Given the description of an element on the screen output the (x, y) to click on. 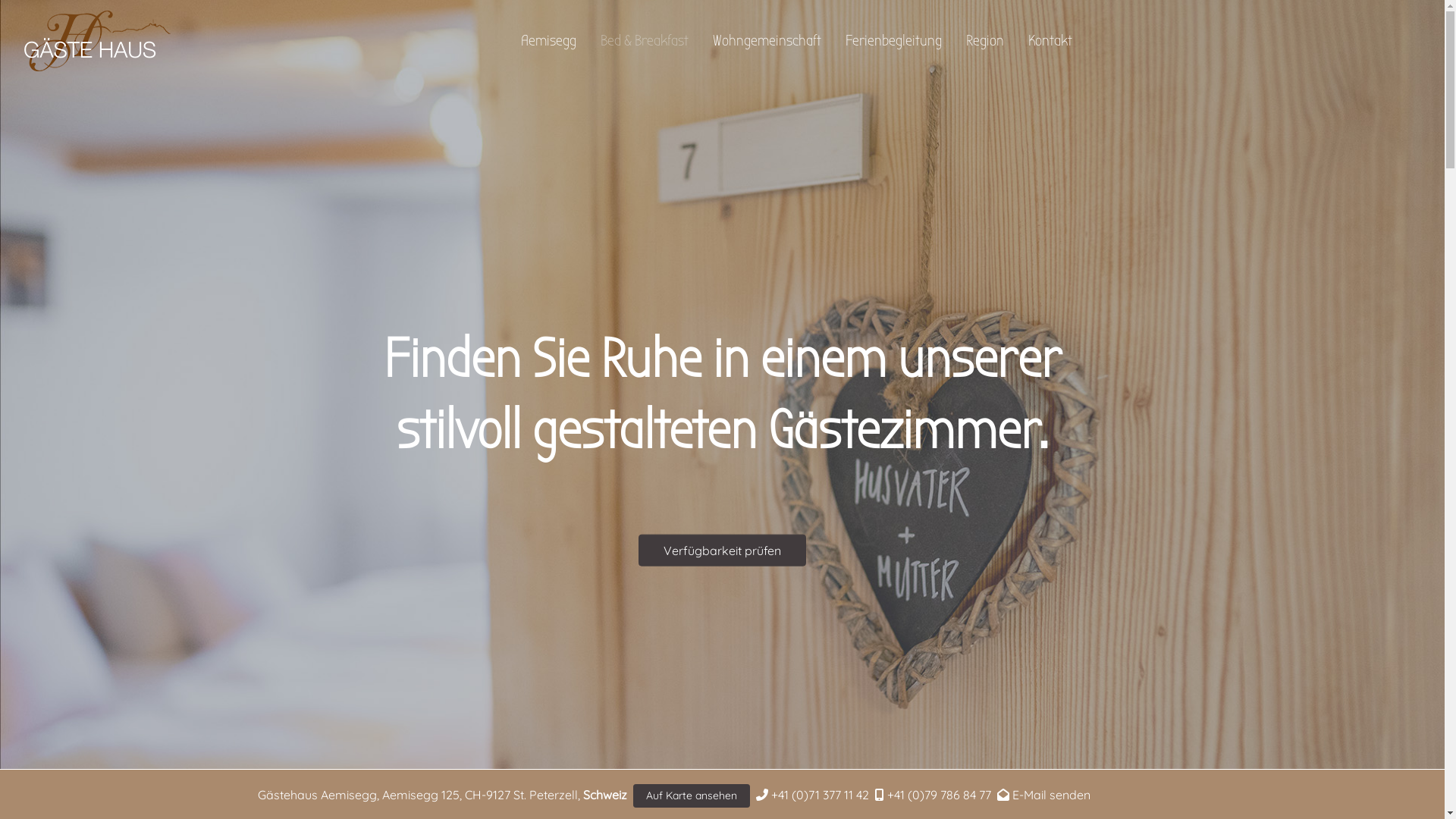
Bed & Breakfast Element type: text (644, 40)
Ferienbegleitung Element type: text (892, 40)
Aemisegg Element type: text (547, 40)
+41 (0)79 786 84 77 Element type: text (939, 794)
Auf Karte ansehen Element type: text (690, 795)
Kontakt Element type: text (1050, 40)
Wohngemeinschaft Element type: text (766, 40)
+41 (0)71 377 11 42 Element type: text (819, 794)
Region Element type: text (984, 40)
E-Mail senden Element type: text (1050, 794)
